Given the description of an element on the screen output the (x, y) to click on. 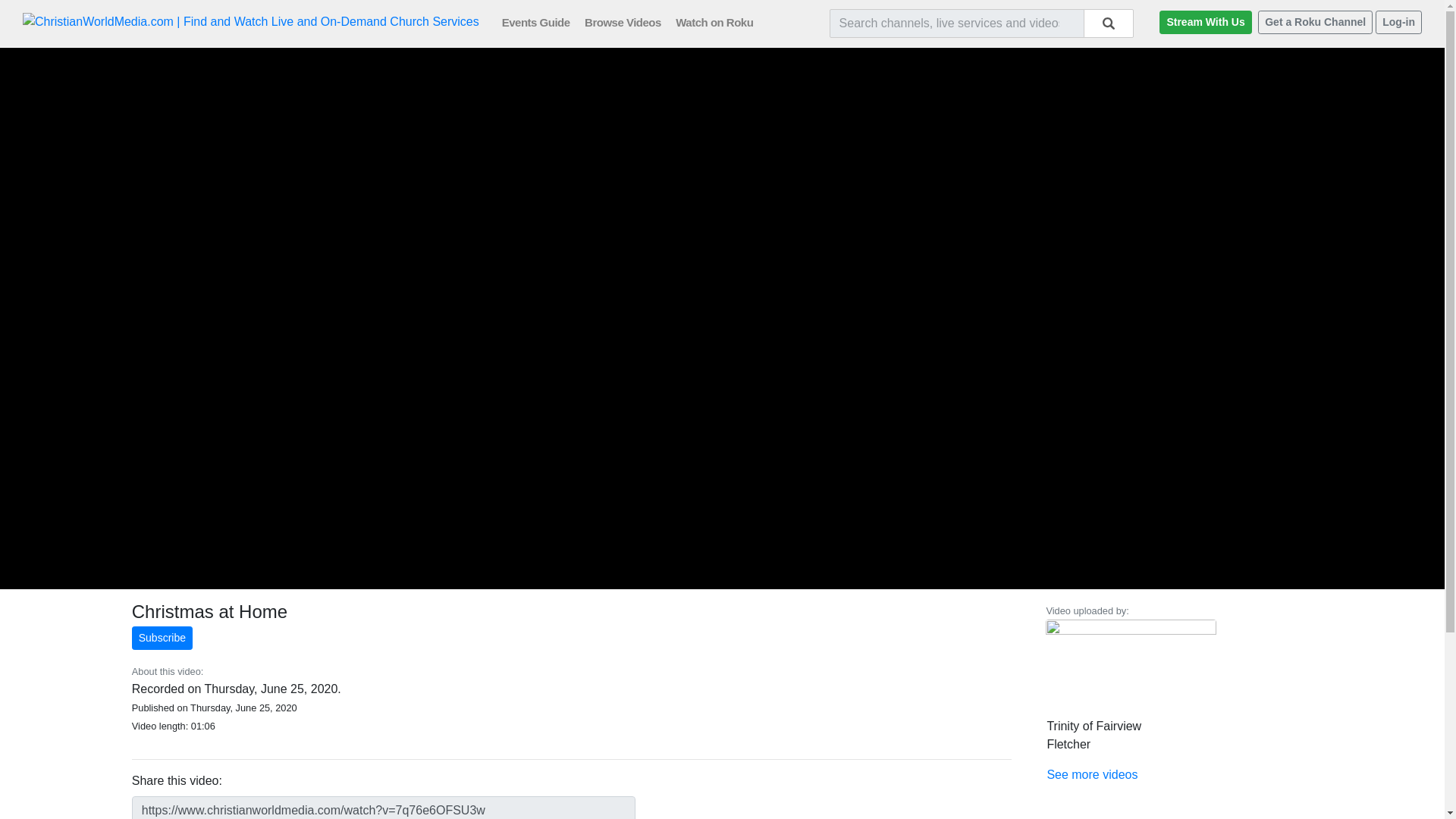
Stream With Us (1204, 22)
Log-in (1398, 22)
Browse Videos (628, 21)
Events Guide (541, 21)
See more videos (1091, 774)
Watch on Roku (719, 21)
Subscribe (162, 638)
Get a Roku Channel (1315, 22)
